Given the description of an element on the screen output the (x, y) to click on. 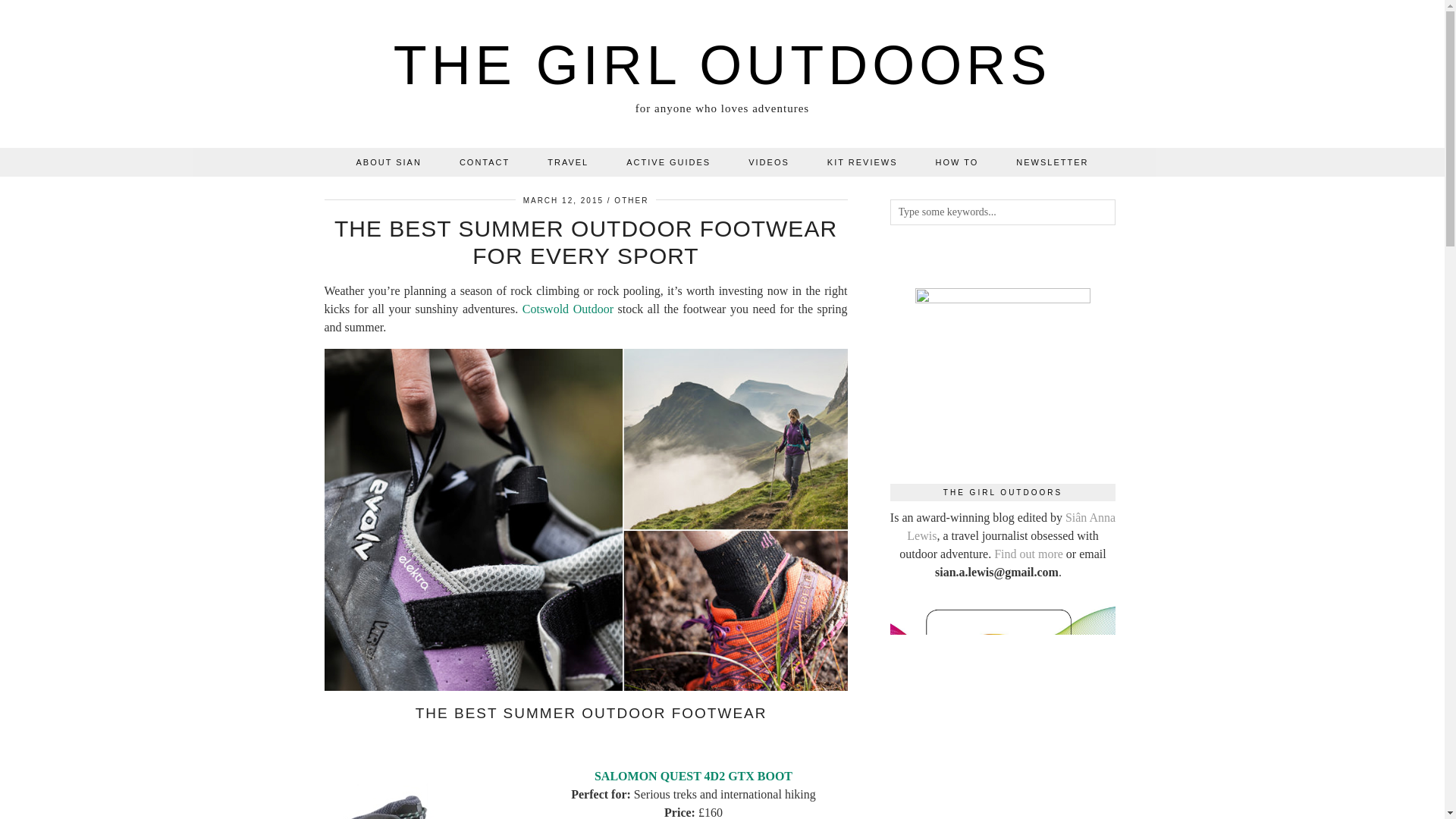
the girl outdoors (722, 65)
TRAVEL (567, 161)
KIT REVIEWS (862, 161)
SALOMON QUEST 4D2 GTX BOOT (693, 775)
Cotswold Outdoor (567, 308)
HOW TO (956, 161)
ACTIVE GUIDES (668, 161)
THE GIRL OUTDOORS (722, 65)
NEWSLETTER (1051, 161)
VIDEOS (768, 161)
